Given the description of an element on the screen output the (x, y) to click on. 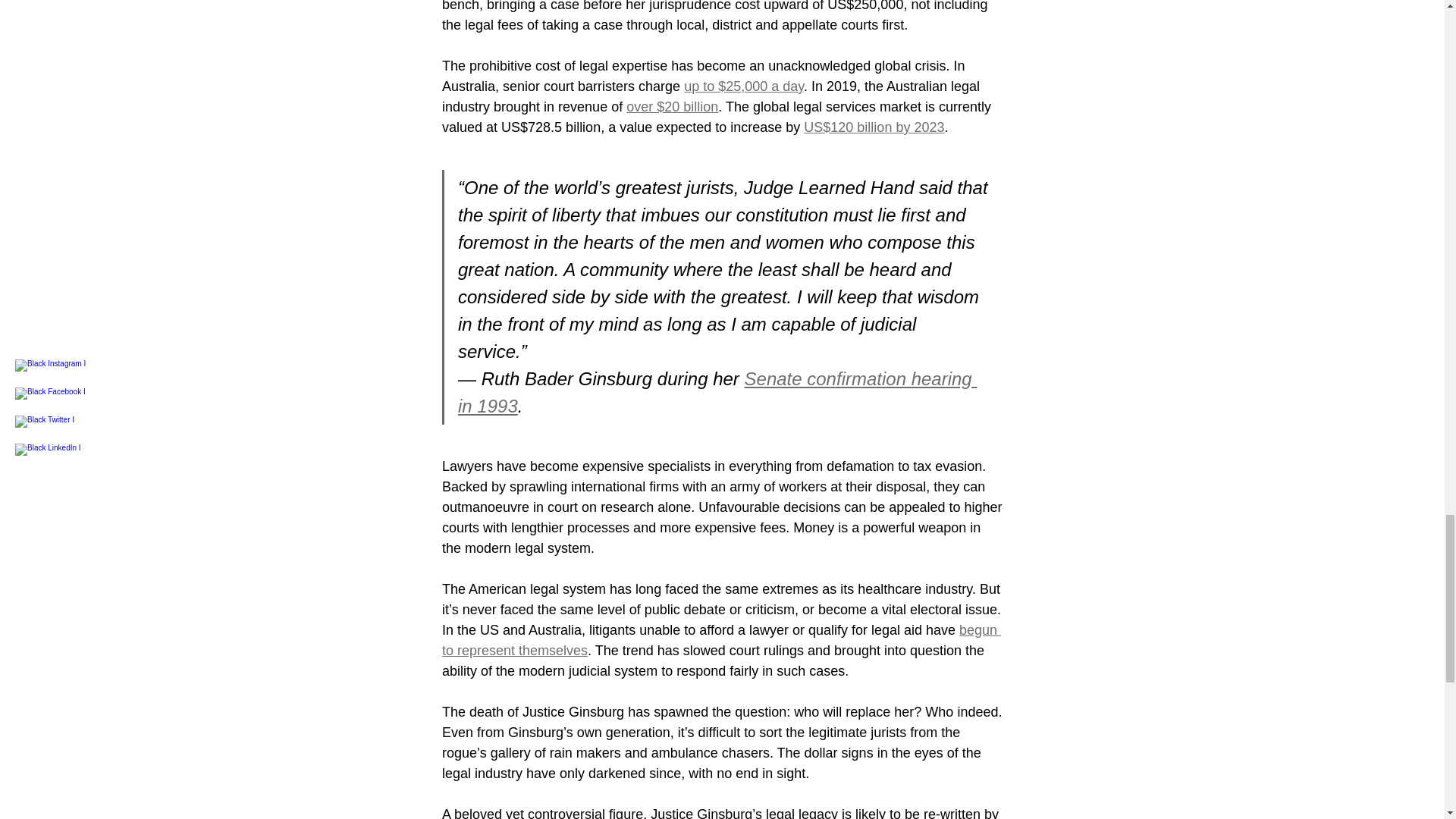
Senate confirmation hearing in 1993 (717, 392)
begun to represent themselves (720, 640)
